Given the description of an element on the screen output the (x, y) to click on. 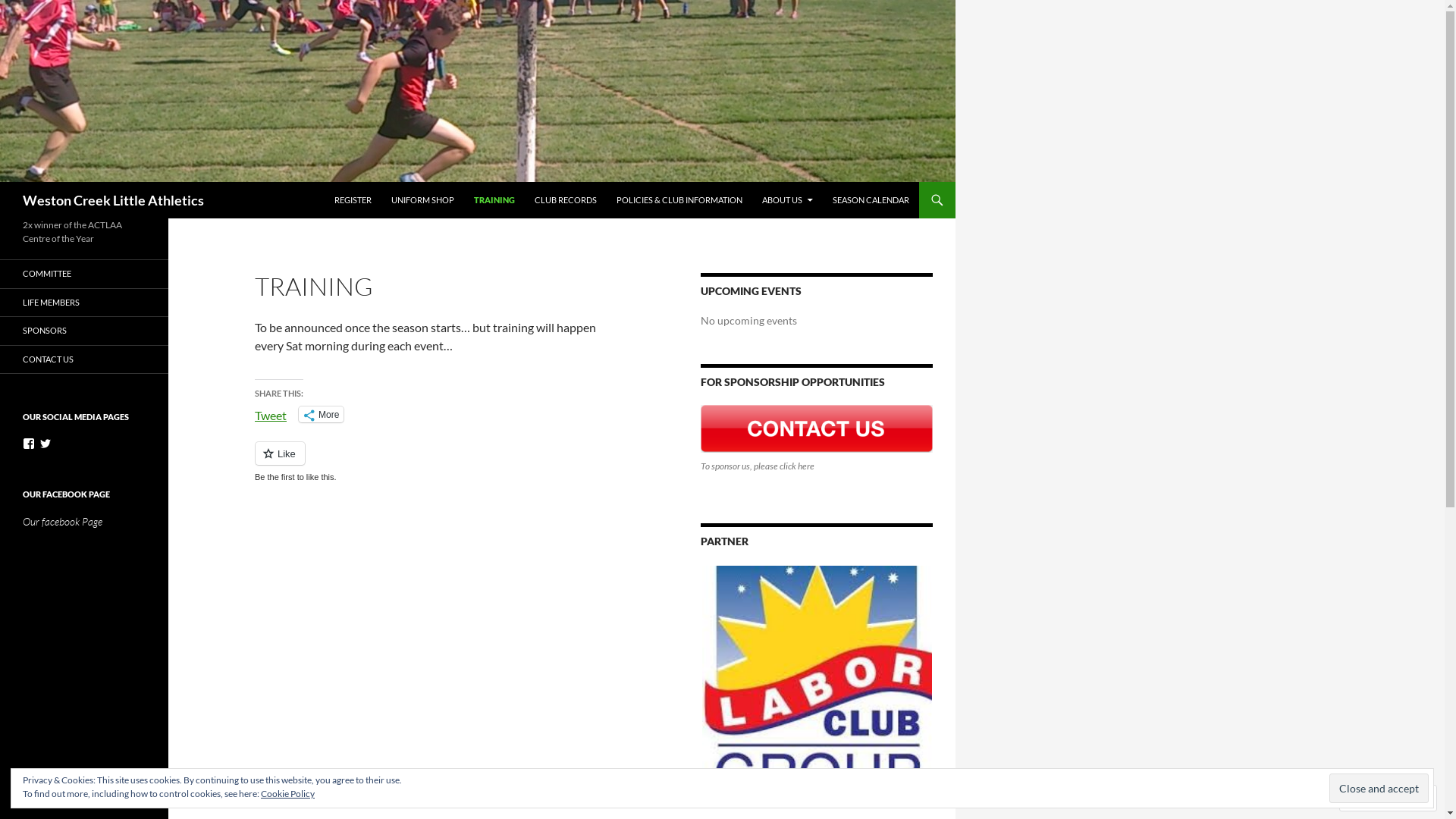
ABOUT US Element type: text (787, 200)
CLUB RECORDS Element type: text (565, 200)
OUR FACEBOOK PAGE Element type: text (65, 493)
Like or Reblog Element type: hover (434, 462)
TRAINING Element type: text (494, 200)
REGISTER Element type: text (352, 200)
Close and accept Element type: text (1378, 788)
SEASON CALENDAR Element type: text (870, 200)
Tweet Element type: text (270, 413)
POLICIES & CLUB INFORMATION Element type: text (679, 200)
Search Element type: text (3, 181)
Follow Element type: text (1373, 797)
Cookie Policy Element type: text (287, 793)
Weston Creek Little Athletics Element type: text (112, 200)
Our facebook Page Element type: text (62, 520)
CONTACT US Element type: text (84, 359)
UNIFORM SHOP Element type: text (422, 200)
laborclub Element type: hover (816, 680)
More Element type: text (320, 414)
LIFE MEMBERS Element type: text (84, 302)
COMMITTEE Element type: text (84, 274)
SPONSORS Element type: text (84, 330)
